Given the description of an element on the screen output the (x, y) to click on. 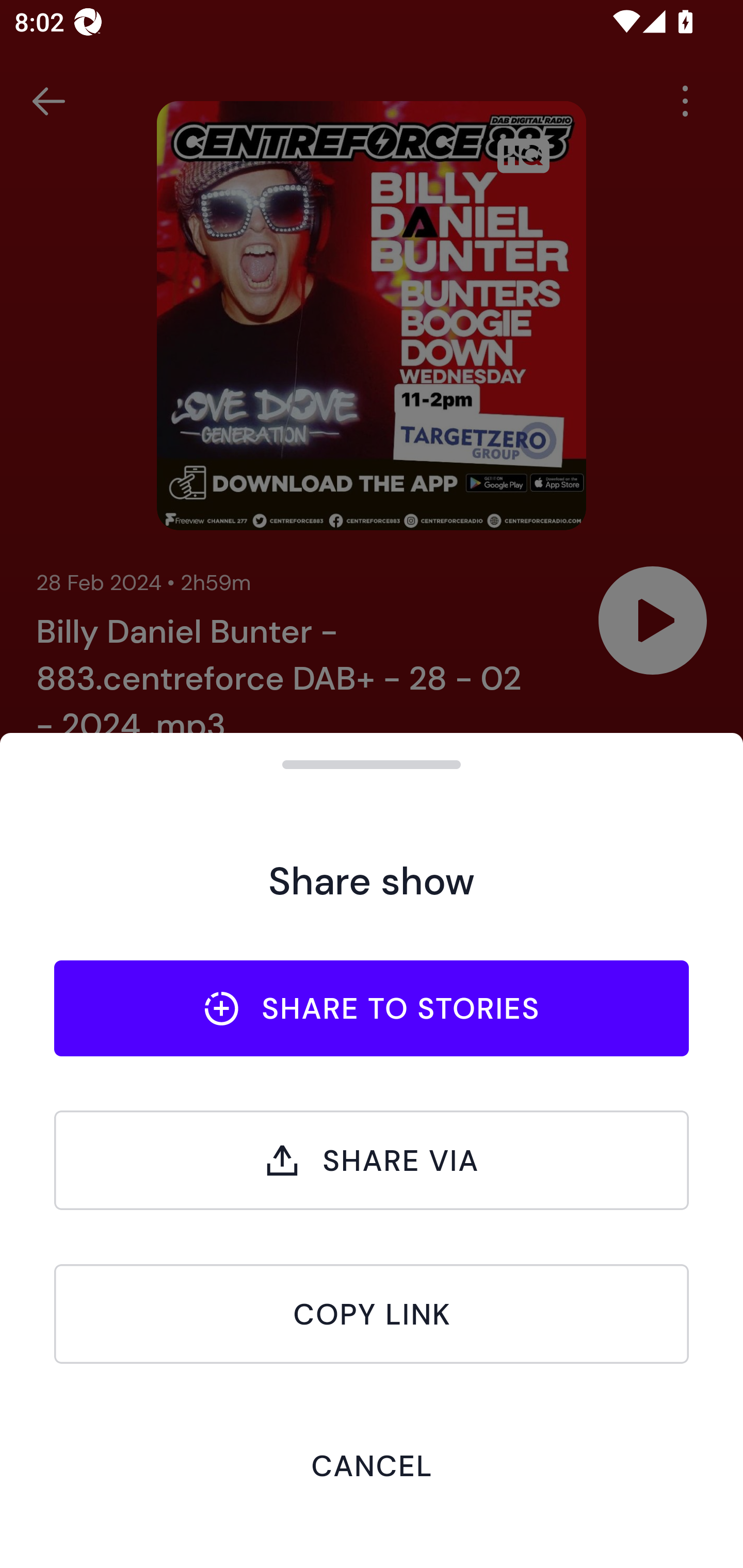
Share to stories SHARE TO STORIES (371, 1007)
Share VIA SHARE VIA (371, 1160)
Copy link COPY LINK (371, 1313)
Cancel CANCEL (371, 1465)
